Given the description of an element on the screen output the (x, y) to click on. 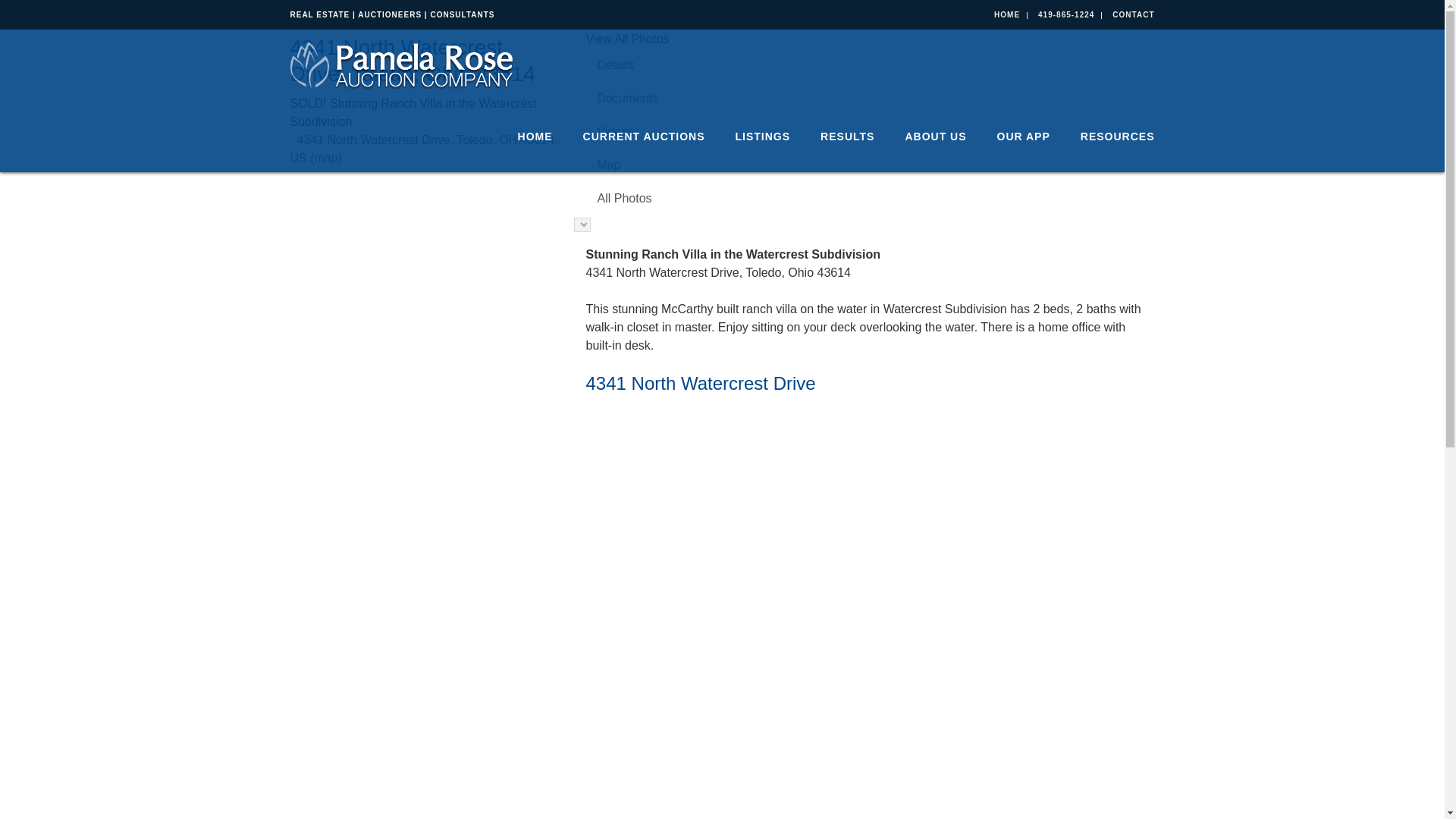
Call Us (1066, 14)
Home (534, 135)
Resources (1109, 135)
Details (869, 64)
Results (847, 135)
419-865-1224 (1066, 14)
map (325, 157)
RESOURCES (1109, 135)
CURRENT AUCTIONS (643, 135)
CONTACT (1133, 14)
